Given the description of an element on the screen output the (x, y) to click on. 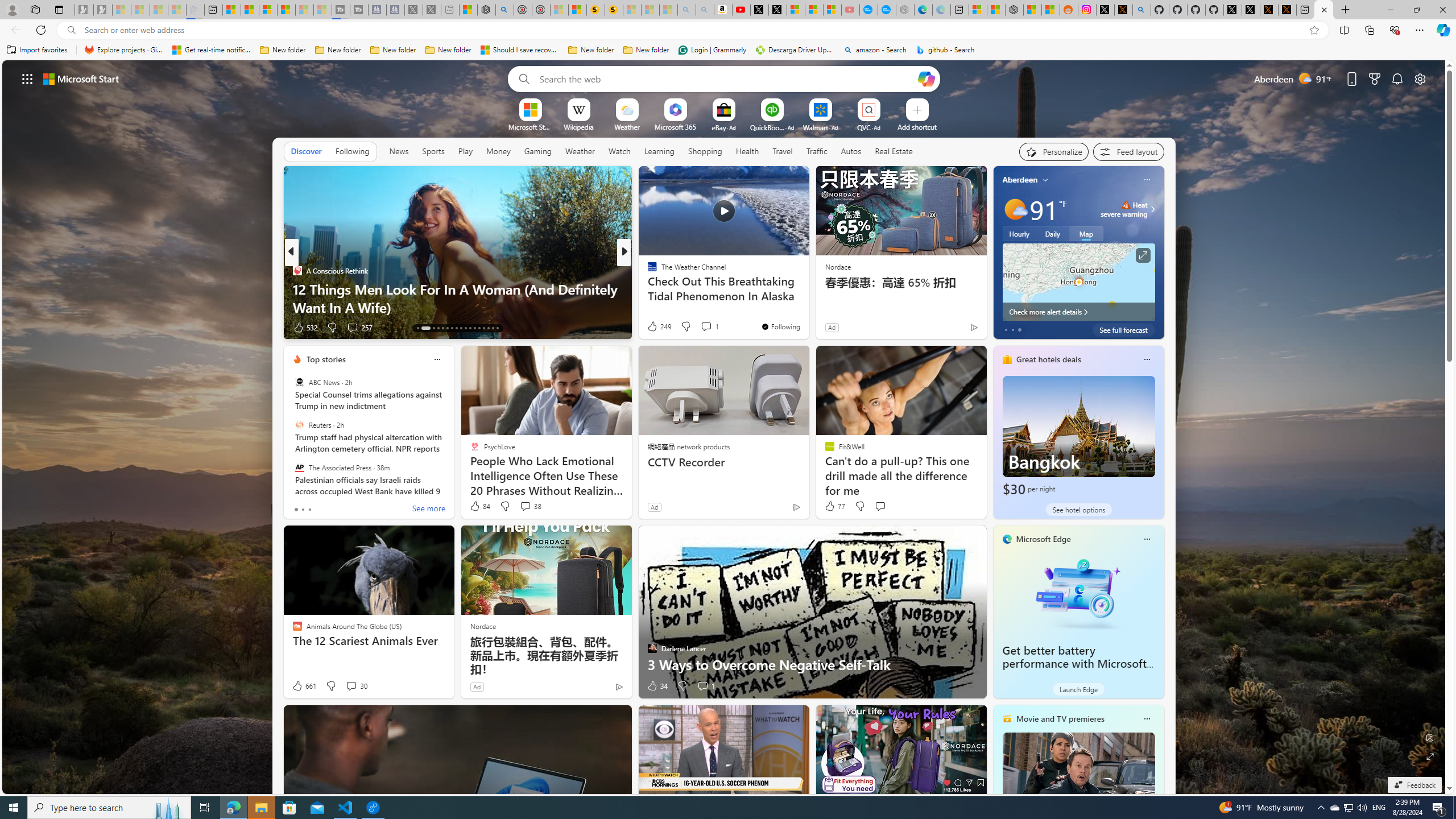
Search icon (70, 29)
See hotel options (1078, 509)
Microsoft Edge (1043, 538)
AutomationID: tab-28 (492, 328)
View comments 30 Comment (355, 685)
AutomationID: tab-15 (433, 328)
60 Like (652, 327)
Map (1085, 233)
Weather (579, 151)
Reuters (299, 424)
Shopping (705, 151)
Forge of Empires (668, 288)
View comments 1 Comment (705, 685)
